Given the description of an element on the screen output the (x, y) to click on. 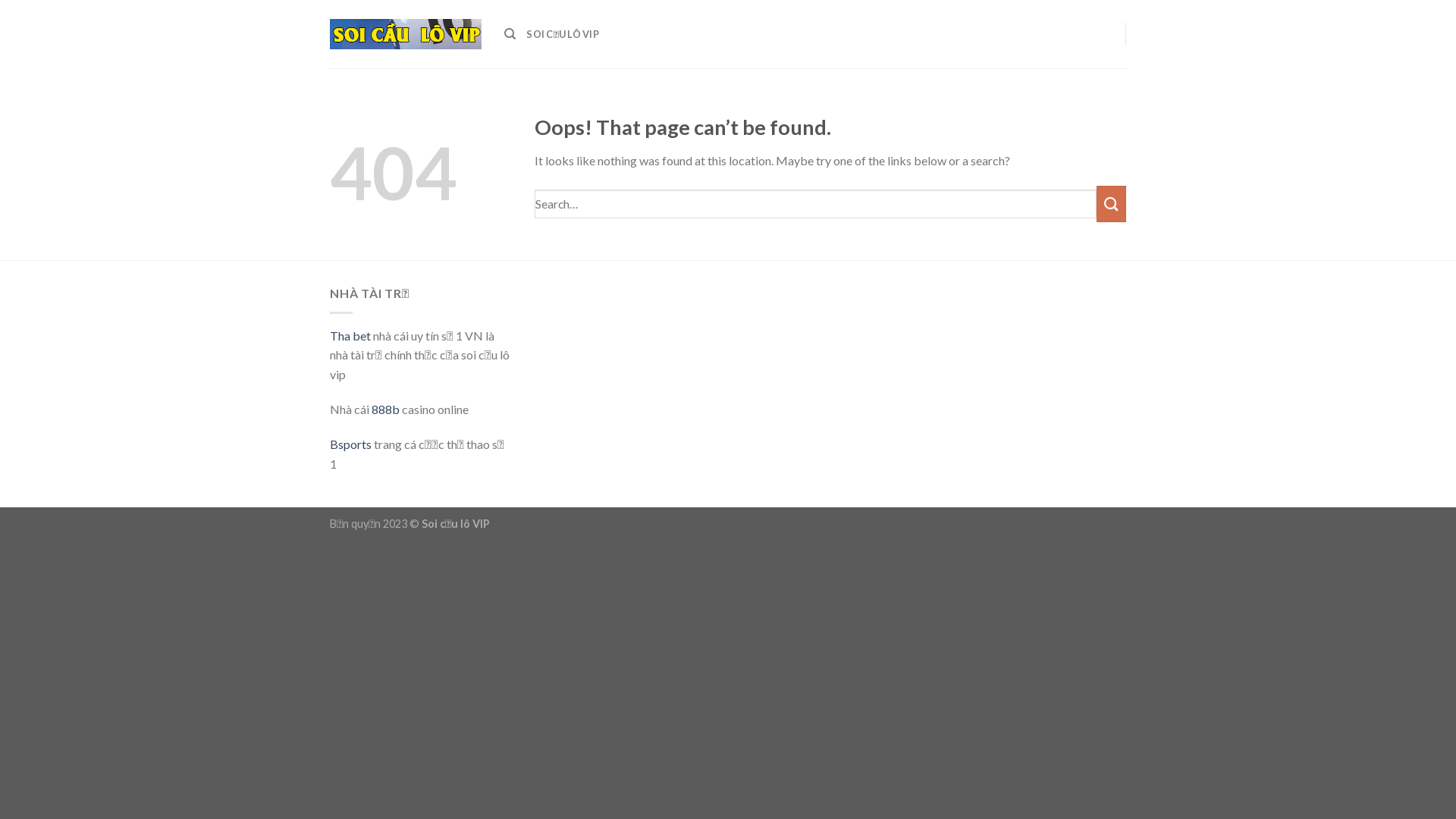
888b Element type: text (385, 408)
Tha bet Element type: text (349, 335)
Bsports Element type: text (350, 443)
